Given the description of an element on the screen output the (x, y) to click on. 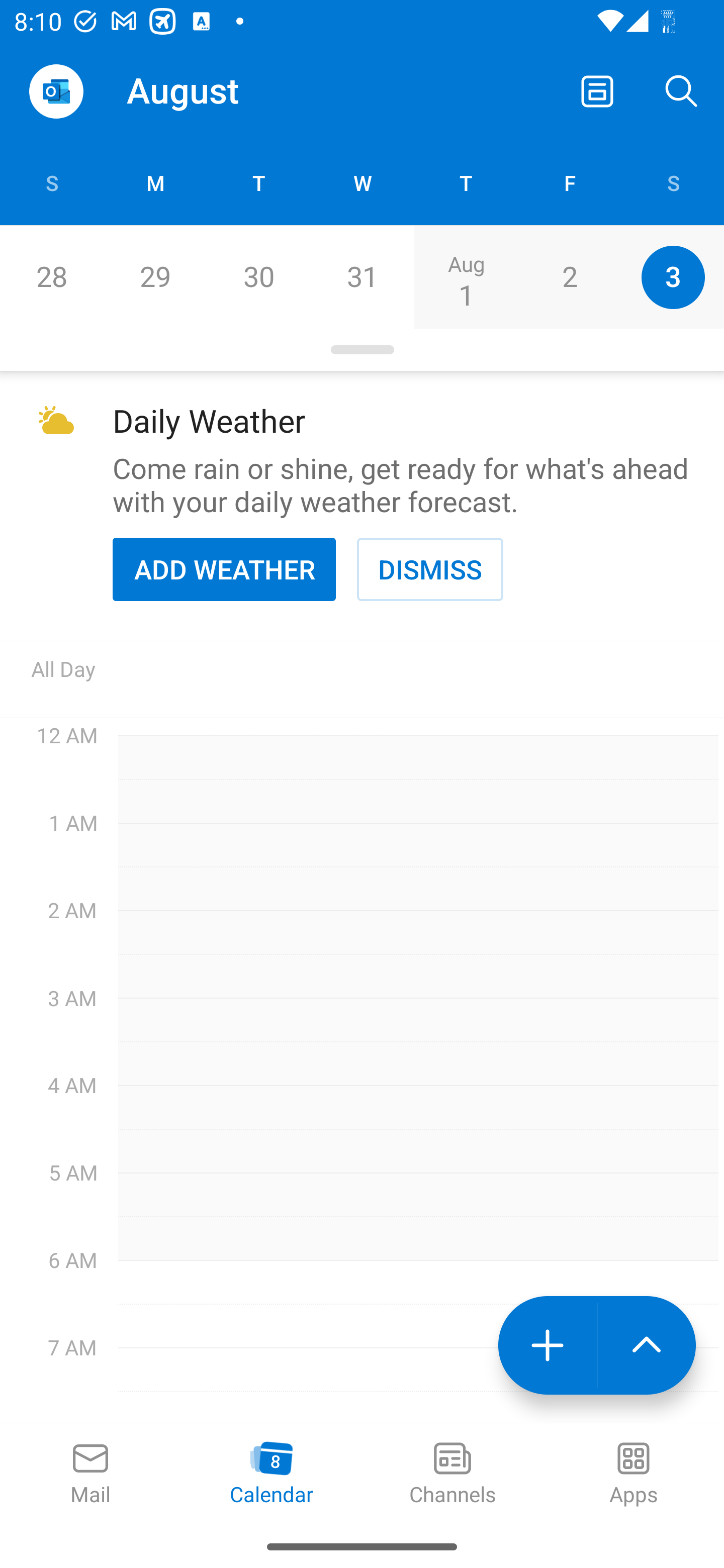
August August 2024, day picker (203, 90)
Switch away from Day view (597, 90)
Search, ,  (681, 90)
Open Navigation Drawer (55, 91)
28 Sunday, July 28 (51, 277)
29 Monday, July 29 (155, 277)
30 Events on Tuesday, July 30 (258, 277)
31 Events on Wednesday, July 31 (362, 277)
Aug
1 Events on Thursday, August 1 (465, 277)
2 Events on Friday, August 2 (569, 277)
3 Saturday, August 3, Selected (672, 277)
ADD WEATHER (224, 568)
DISMISS (429, 568)
New event (547, 1344)
launch the extended action menu (646, 1344)
Mail (90, 1474)
Channels (452, 1474)
Apps (633, 1474)
